Given the description of an element on the screen output the (x, y) to click on. 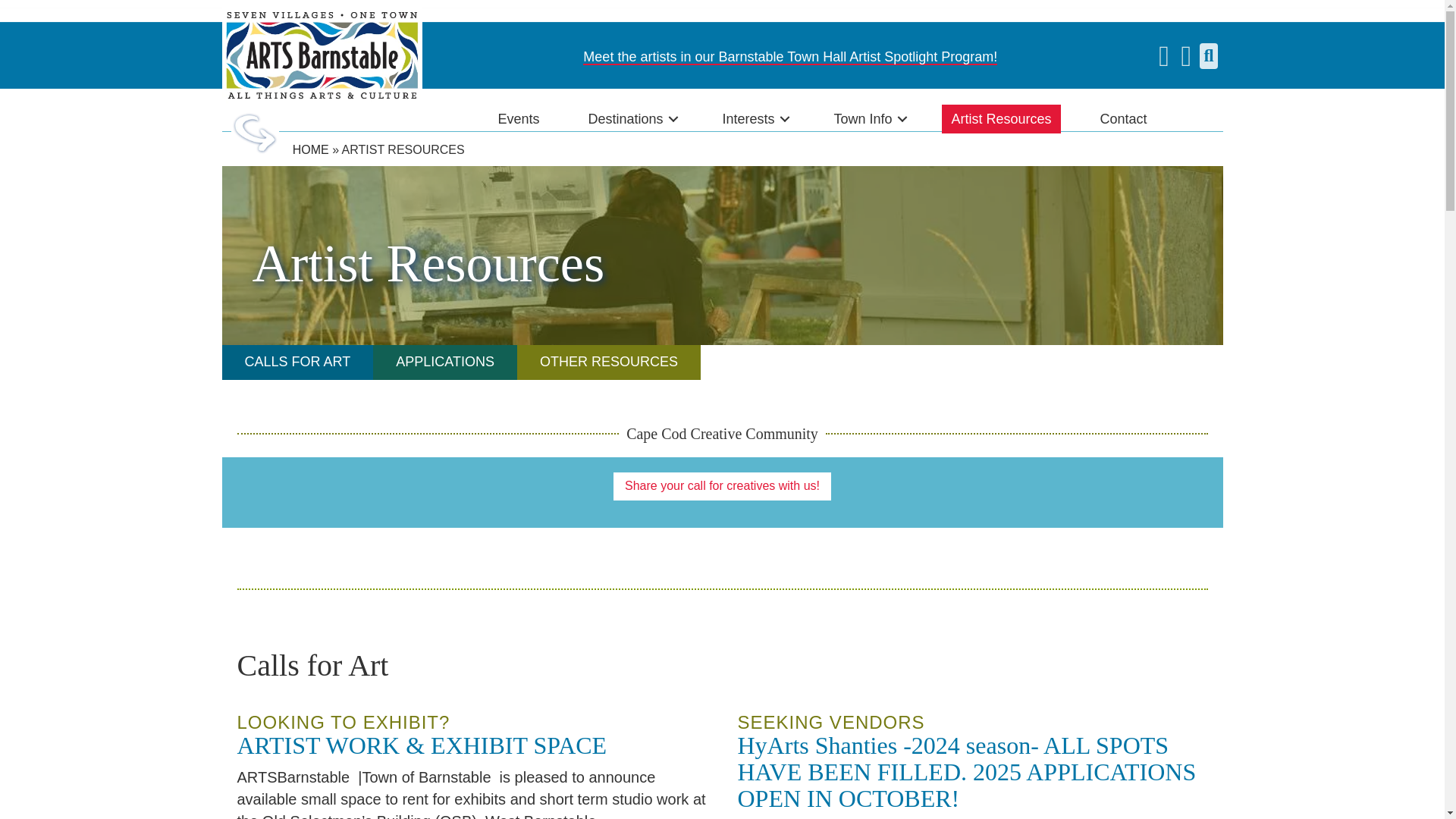
CALLS FOR ART (296, 362)
breadcrumbarrow2 (255, 131)
Destinations (630, 118)
Contact (1123, 118)
APPLICATIONS (444, 362)
Artist Resources (1000, 118)
Interests (753, 118)
Events (517, 118)
Town Info (867, 118)
HOME (310, 150)
